Given the description of an element on the screen output the (x, y) to click on. 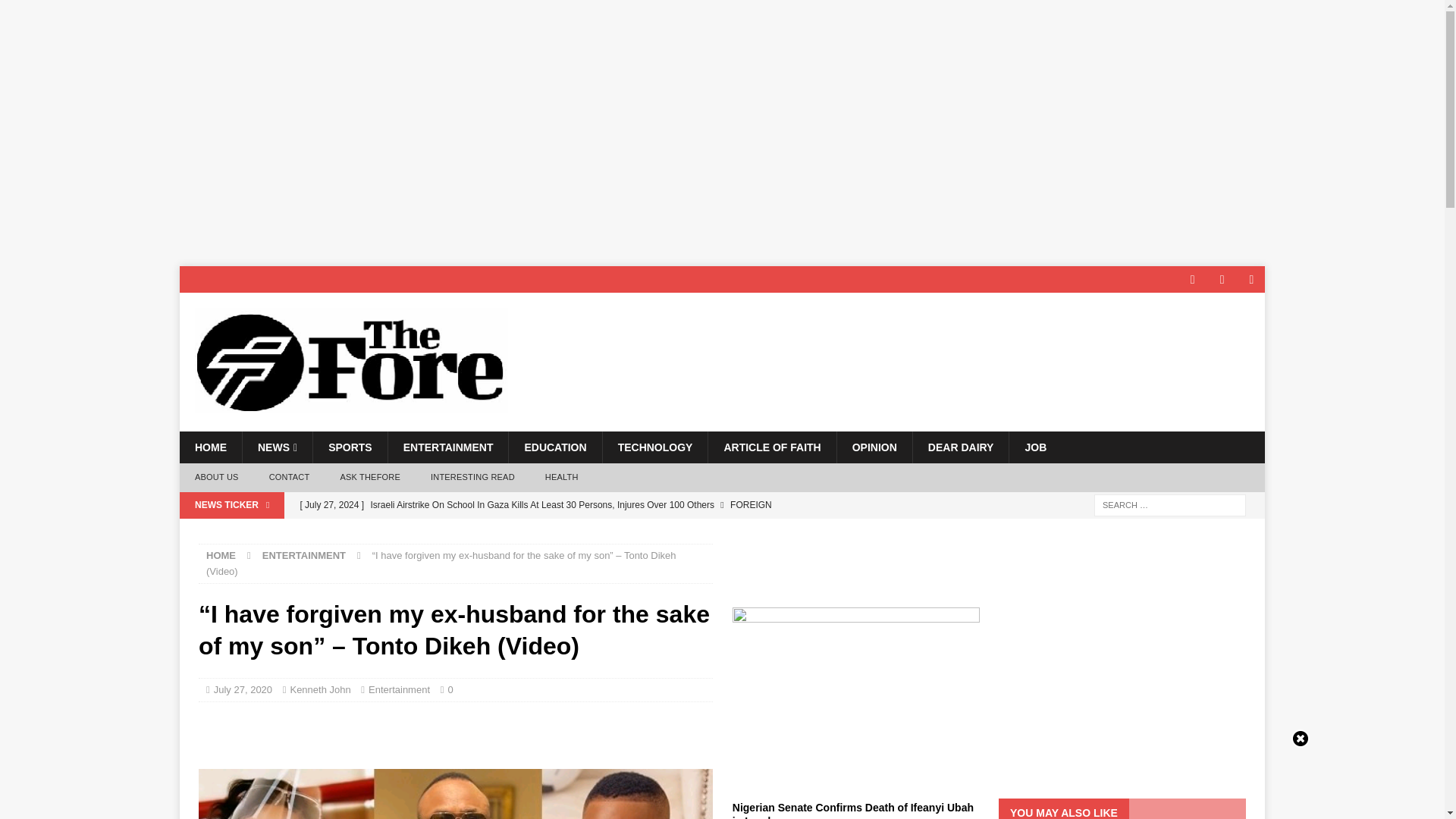
HEALTH (561, 477)
Search (56, 11)
TECHNOLOGY (654, 447)
HOME (210, 447)
0 (453, 689)
July 27, 2020 (243, 689)
Kenneth John (319, 689)
INTERESTING READ (471, 477)
CONTACT (288, 477)
EDUCATION (554, 447)
Entertainment (398, 689)
ENTERTAINMENT (447, 447)
JOB (1035, 447)
SPORTS (350, 447)
